Given the description of an element on the screen output the (x, y) to click on. 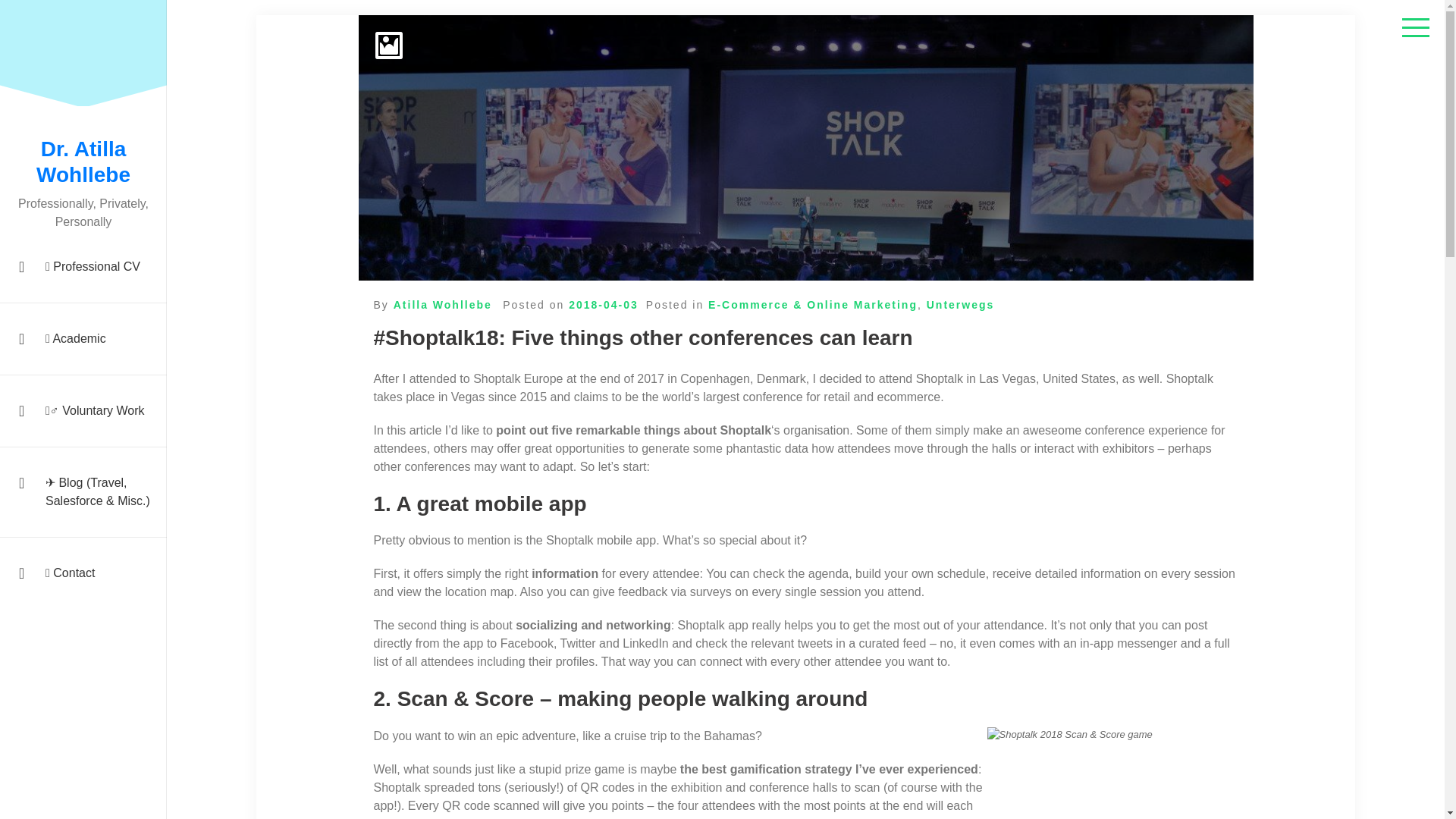
Atilla Wohllebe (442, 304)
2018-04-03 (604, 304)
Dr. Atilla Wohllebe (82, 161)
Unterwegs (960, 304)
